Given the description of an element on the screen output the (x, y) to click on. 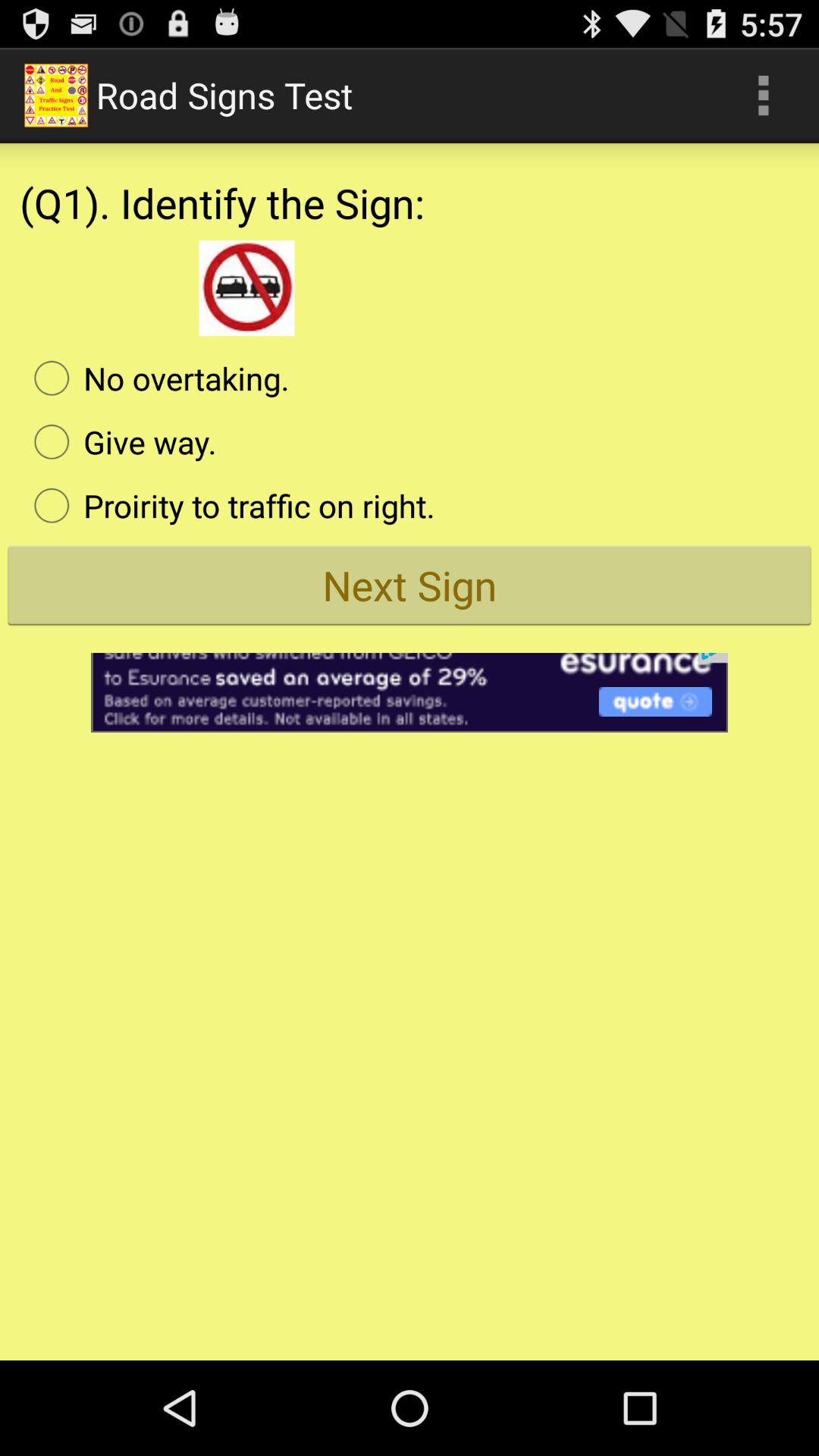
view advertisement (409, 682)
